Given the description of an element on the screen output the (x, y) to click on. 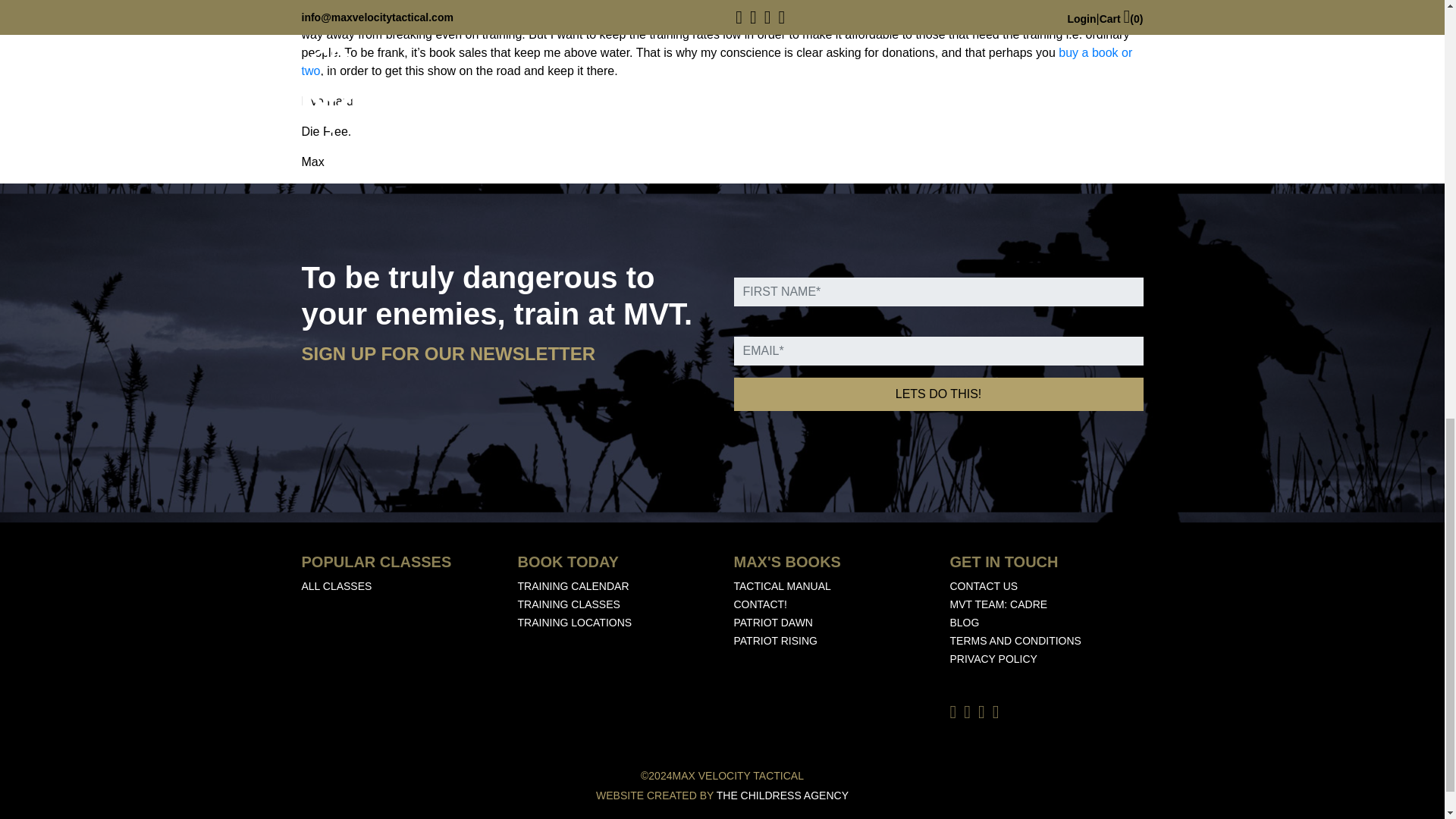
LETS DO THIS! (937, 394)
